Given the description of an element on the screen output the (x, y) to click on. 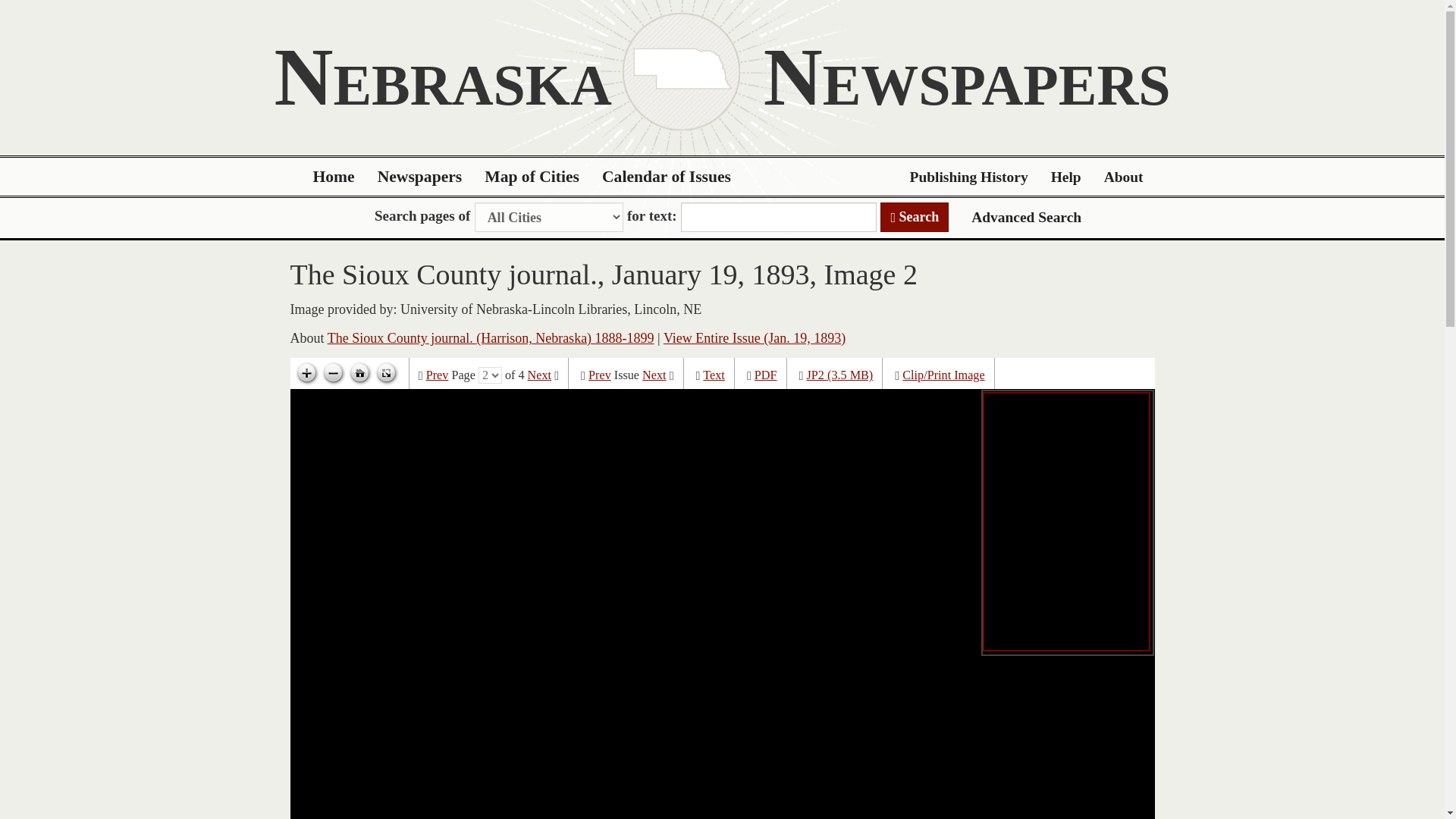
Calendar of Issues (666, 176)
Home (333, 176)
Zoom in (307, 373)
Toggle full page (385, 373)
Zoom out (333, 373)
Next (539, 375)
Map of Cities (532, 176)
About (1123, 176)
Go home (359, 373)
Search (914, 217)
Prev (437, 375)
Text (714, 375)
Publishing History (968, 176)
Newspapers (420, 176)
Help (1066, 176)
